Given the description of an element on the screen output the (x, y) to click on. 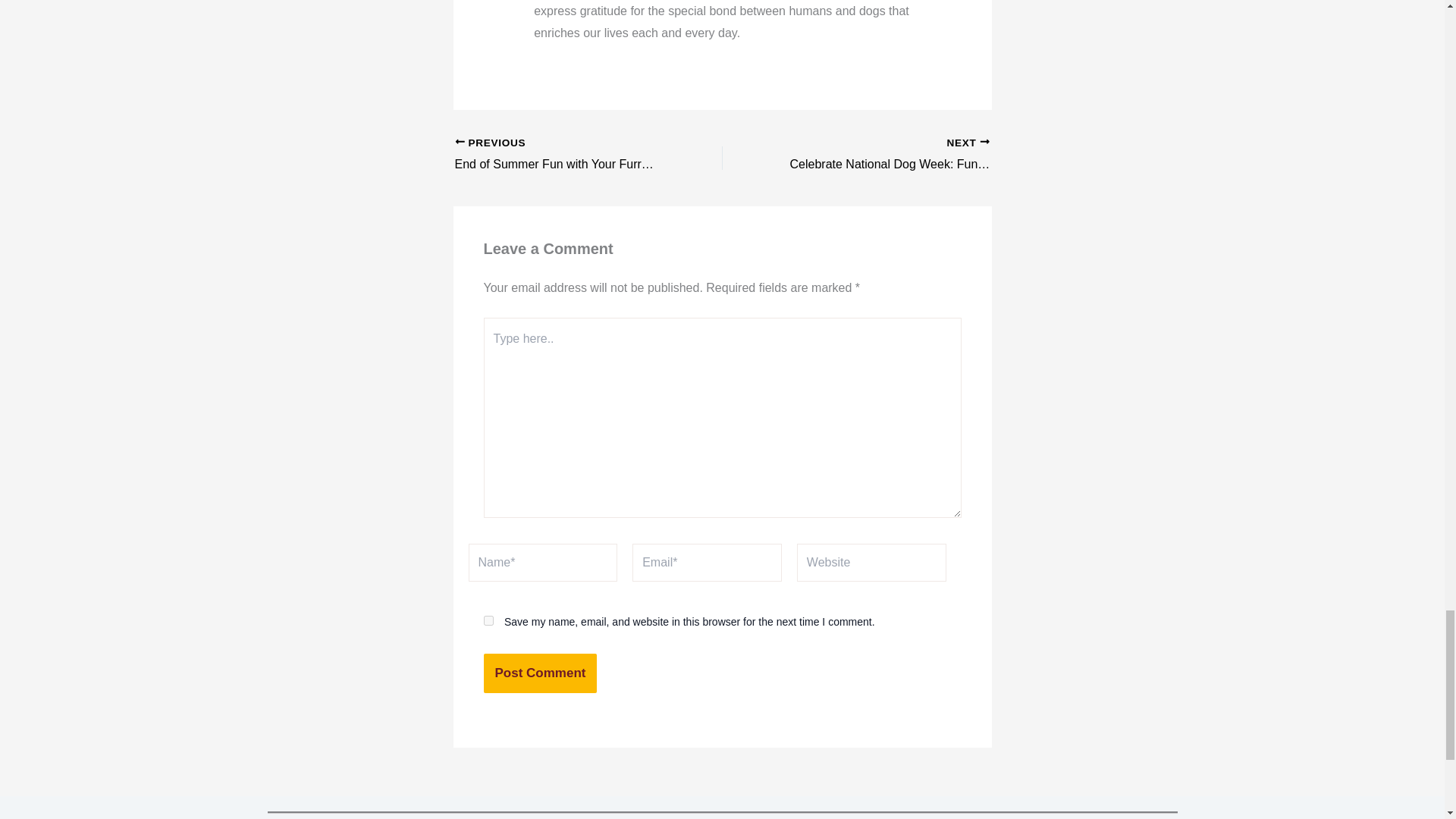
Post Comment (539, 672)
Post Comment (539, 672)
yes (561, 155)
